Given the description of an element on the screen output the (x, y) to click on. 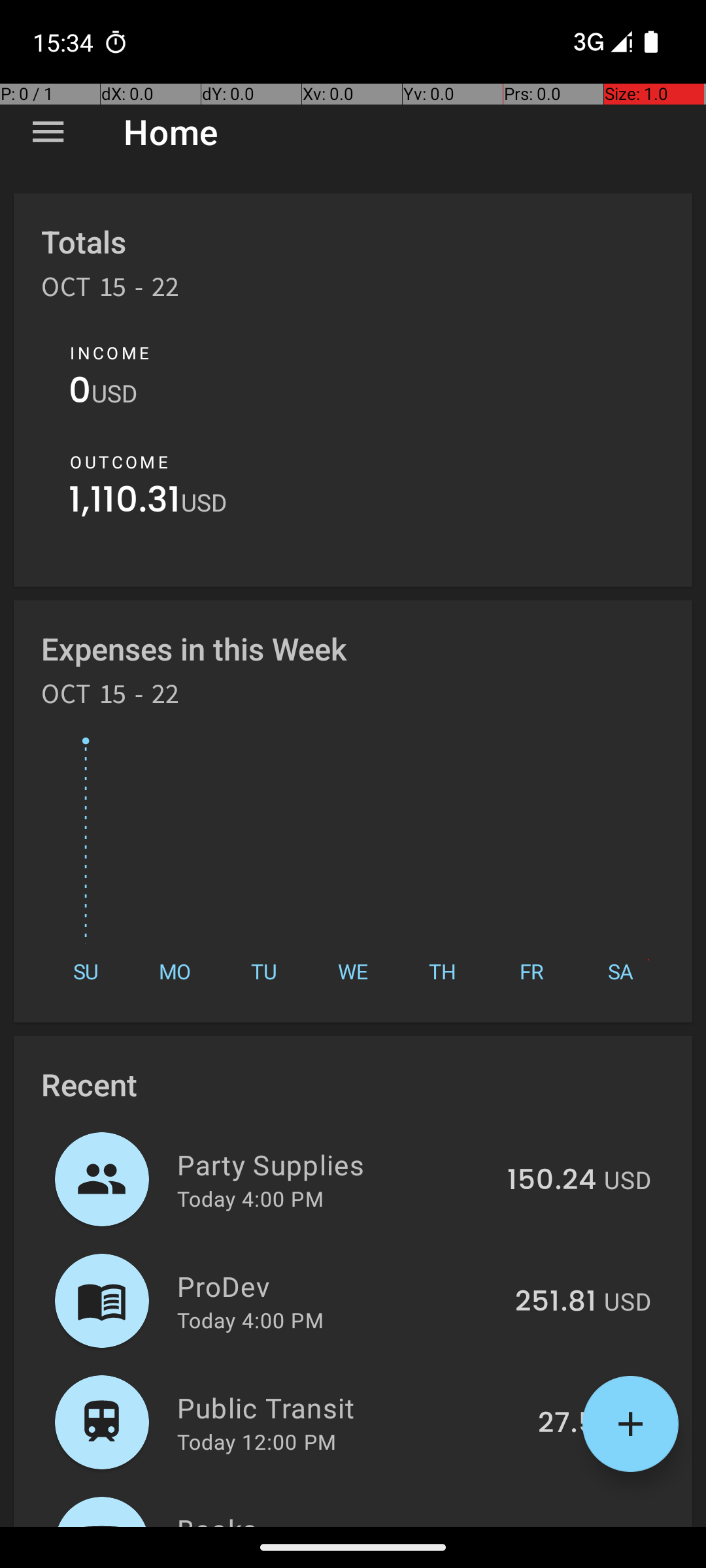
1,110.31 Element type: android.widget.TextView (124, 502)
150.24 Element type: android.widget.TextView (551, 1180)
ProDev Element type: android.widget.TextView (338, 1285)
251.81 Element type: android.widget.TextView (555, 1301)
Public Transit Element type: android.widget.TextView (349, 1407)
27.5 Element type: android.widget.TextView (566, 1423)
Books Element type: android.widget.TextView (330, 1518)
258.84 Element type: android.widget.TextView (547, 1524)
